Given the description of an element on the screen output the (x, y) to click on. 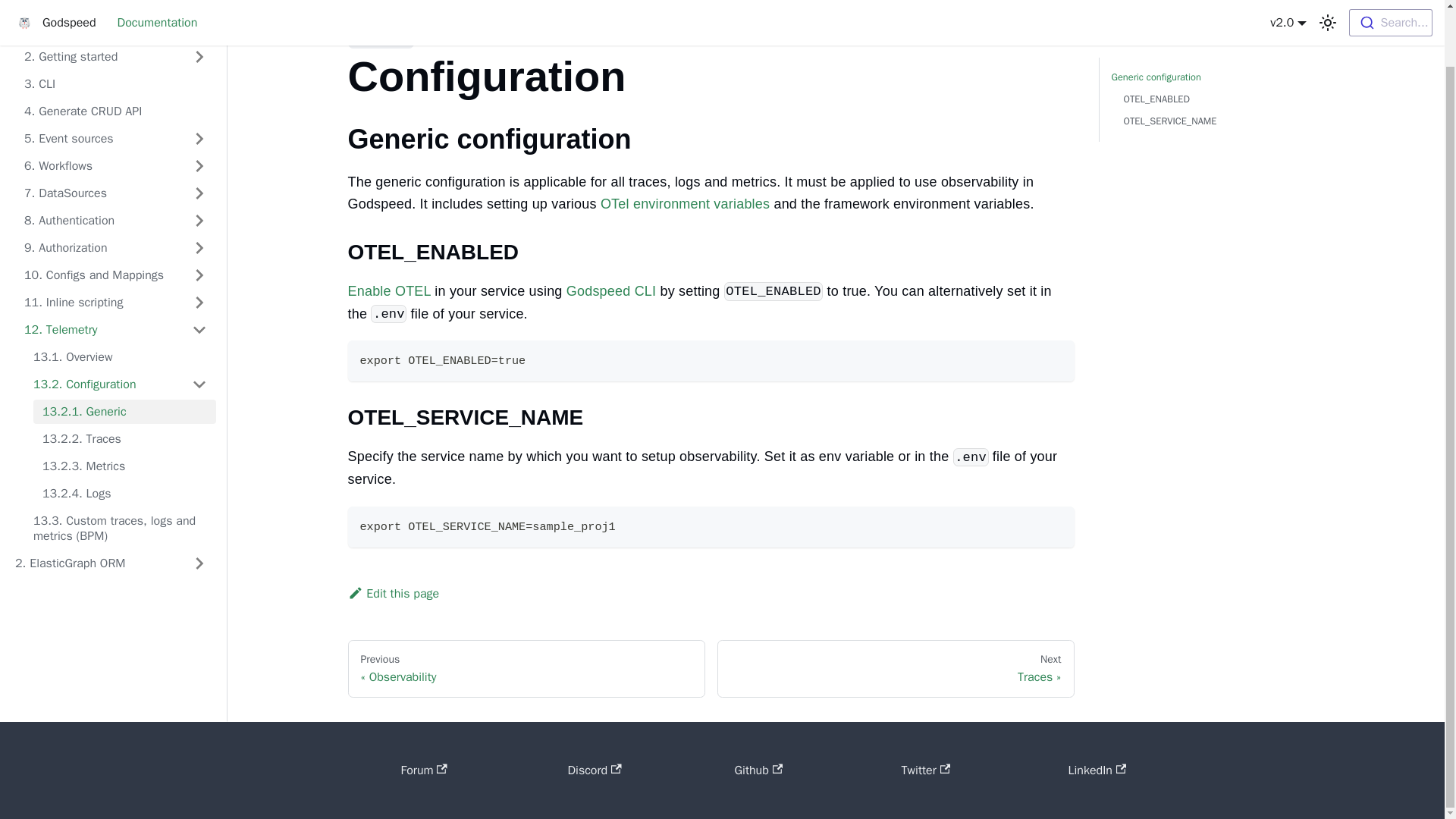
11. Inline scripting (114, 302)
13.2.3. Metrics (124, 466)
9. Authorization (114, 247)
1. Microservices Framework (110, 7)
6. Workflows (114, 165)
1. Introduction (114, 29)
7. DataSources (114, 192)
12. Telemetry (114, 329)
13.2. Configuration (119, 384)
2. Getting started (114, 56)
Enable OTEL (388, 290)
13.2.1. Generic (124, 411)
10. Configs and Mappings (114, 274)
13.2.2. Traces (124, 438)
2. ElasticGraph ORM (110, 563)
